Given the description of an element on the screen output the (x, y) to click on. 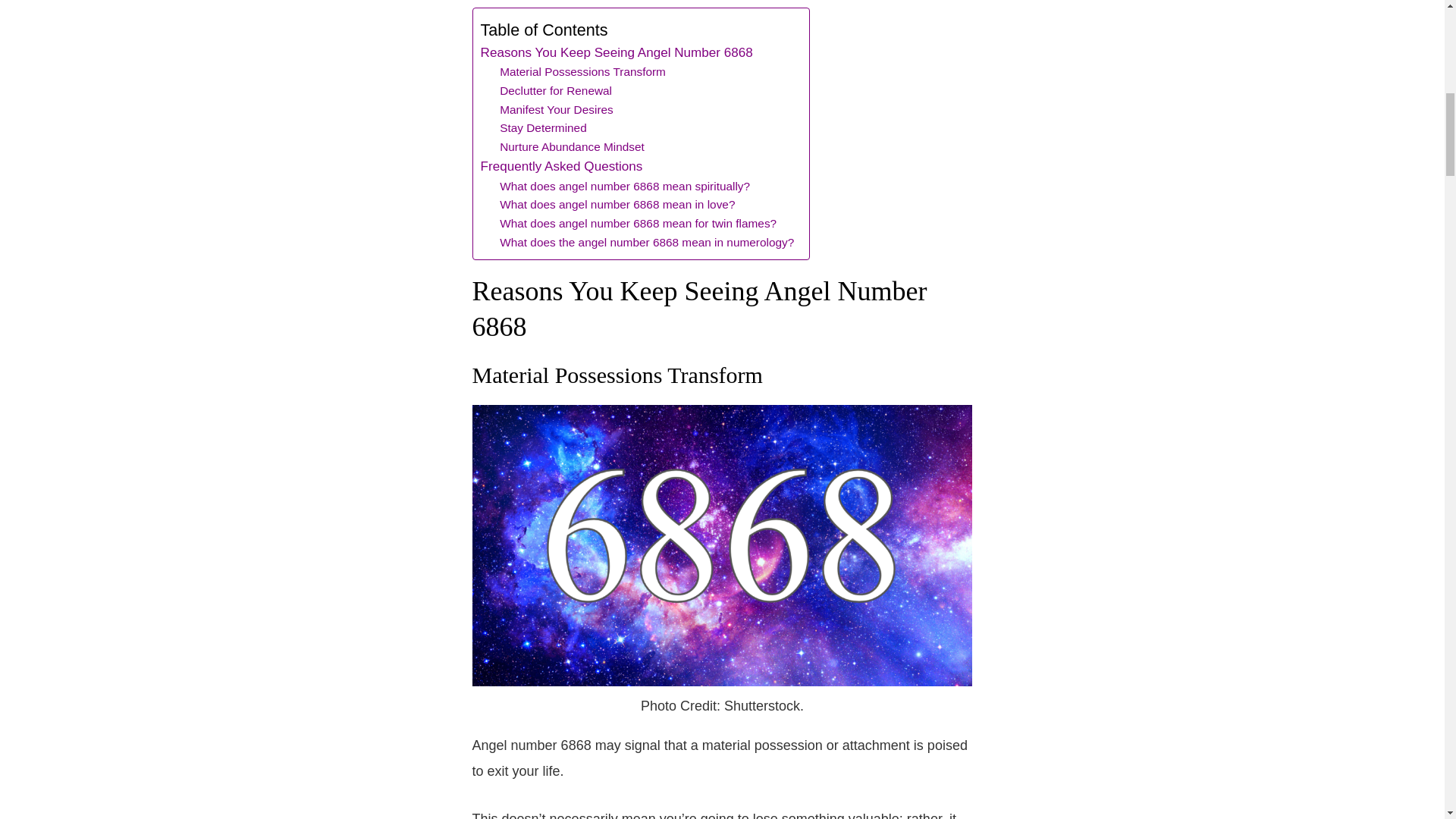
Manifest Your Desires (555, 109)
Declutter for Renewal (555, 90)
What does angel number 6868 mean for twin flames? (637, 223)
Reasons You Keep Seeing Angel Number 6868 (616, 52)
Frequently Asked Questions (561, 166)
What does angel number 6868 mean in love? (617, 204)
What does angel number 6868 mean spiritually?  (625, 186)
Declutter for Renewal (555, 90)
Frequently Asked Questions (561, 166)
